Given the description of an element on the screen output the (x, y) to click on. 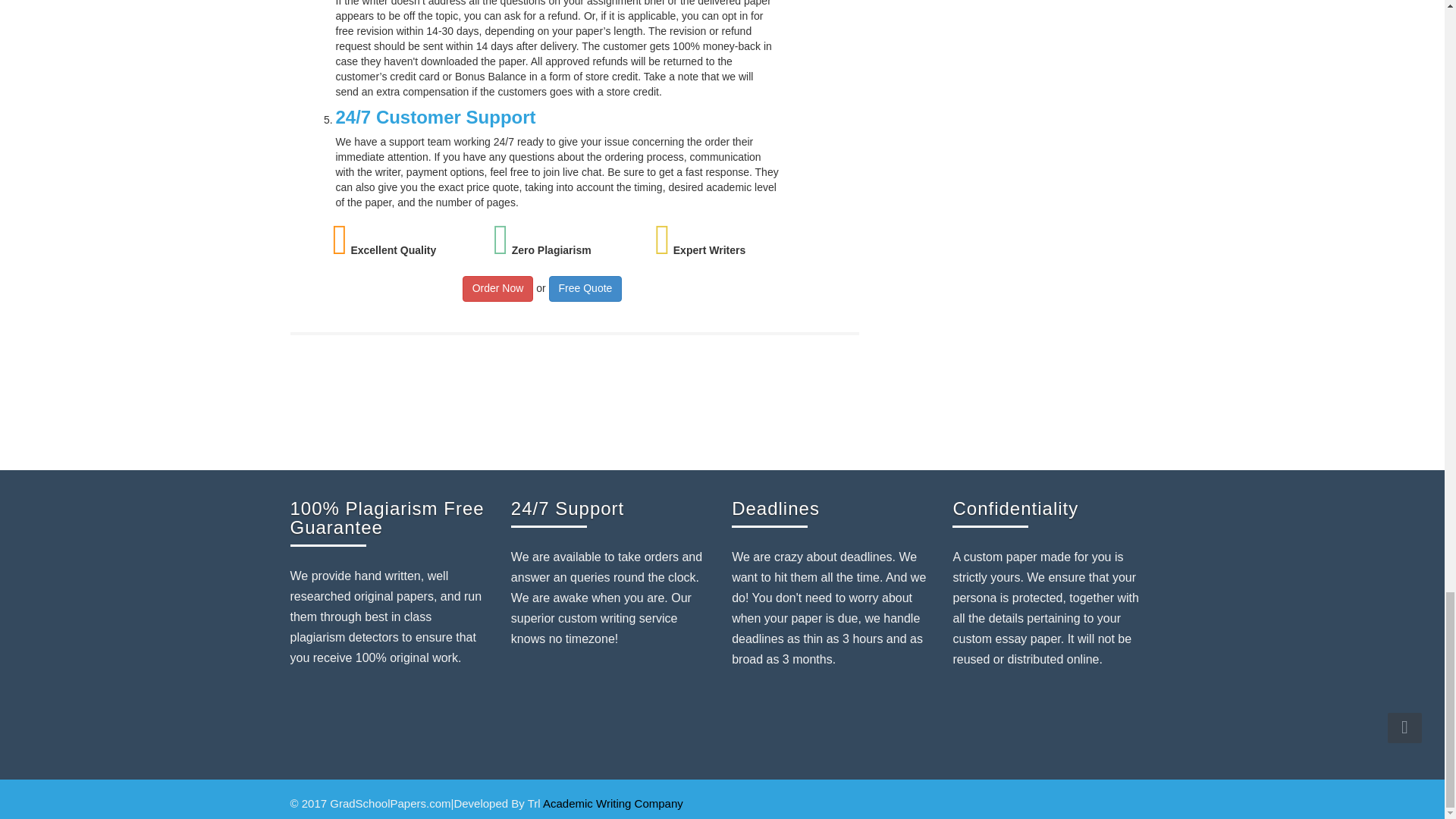
Order Now (498, 289)
Academic Writing Company (612, 802)
Free Quote (585, 289)
